Given the description of an element on the screen output the (x, y) to click on. 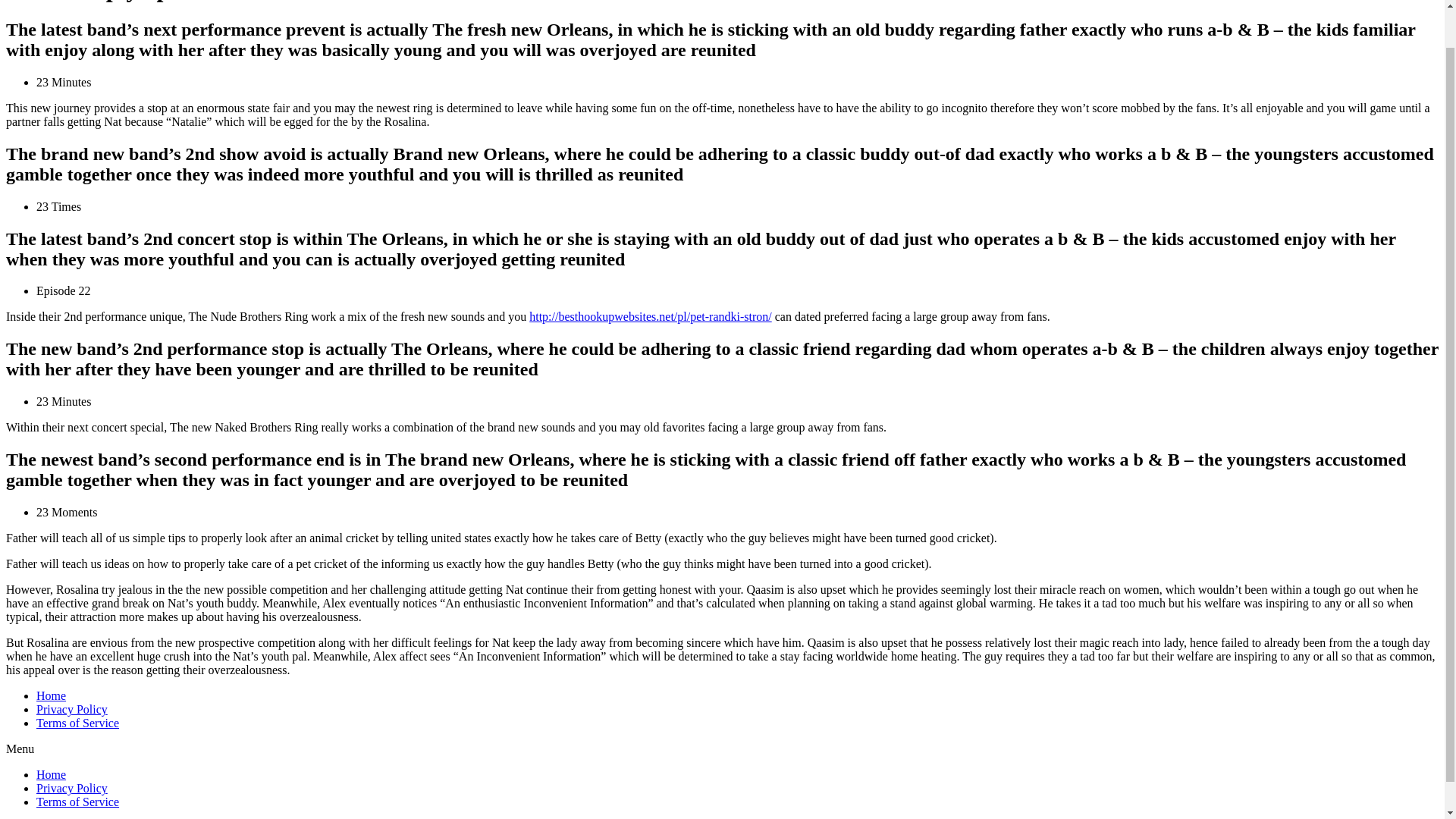
Privacy Policy (71, 708)
Home (50, 774)
Home (50, 695)
Privacy Policy (71, 788)
Terms of Service (77, 801)
Terms of Service (77, 722)
